Given the description of an element on the screen output the (x, y) to click on. 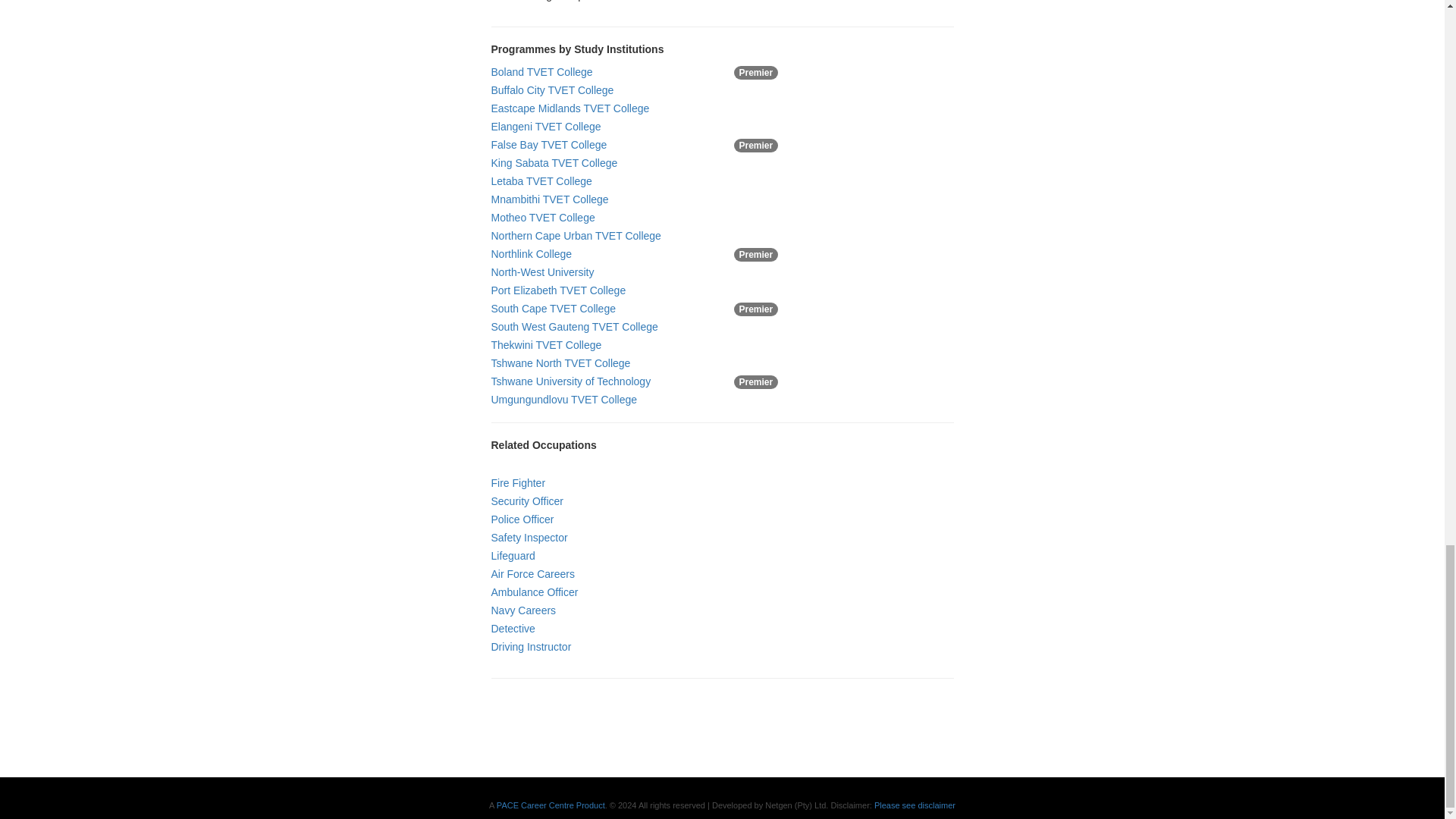
View Programmes for Tshwane University of Technology (571, 381)
View Programmes for South West Gauteng TVET College (575, 326)
View Programmes for Motheo TVET College (543, 217)
View Programmes for King Sabata TVET College (554, 162)
View Programmes for Buffalo City TVET College (553, 90)
View Programmes for Tshwane North TVET College (561, 363)
False Bay TVET College (549, 144)
Boland TVET College (542, 71)
View Programmes for False Bay TVET College (549, 144)
Elangeni TVET College (546, 126)
View Programmes for Northern Cape Urban TVET College (576, 235)
View Programmes for North-West University (543, 272)
Buffalo City TVET College (553, 90)
View Programmes for Elangeni TVET College (546, 126)
View Programmes for Umgungundlovu TVET College (564, 399)
